Given the description of an element on the screen output the (x, y) to click on. 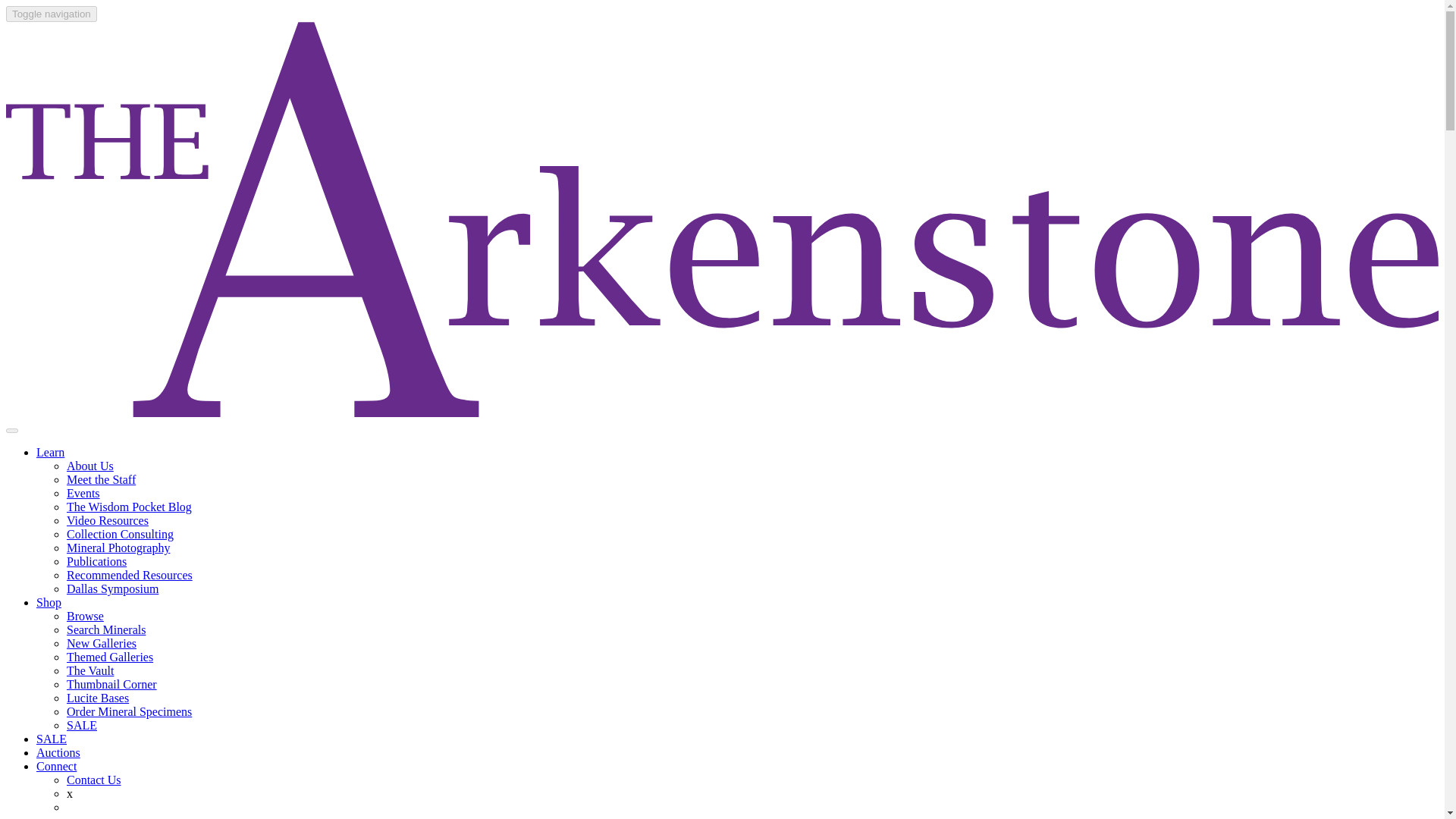
Contact Us (93, 779)
SALE (51, 738)
Learn (50, 451)
Shop (48, 602)
Events (83, 492)
Toggle navigation (51, 13)
New Galleries (101, 643)
Lucite Bases (97, 697)
Search Minerals (105, 629)
Auctions (58, 752)
